Given the description of an element on the screen output the (x, y) to click on. 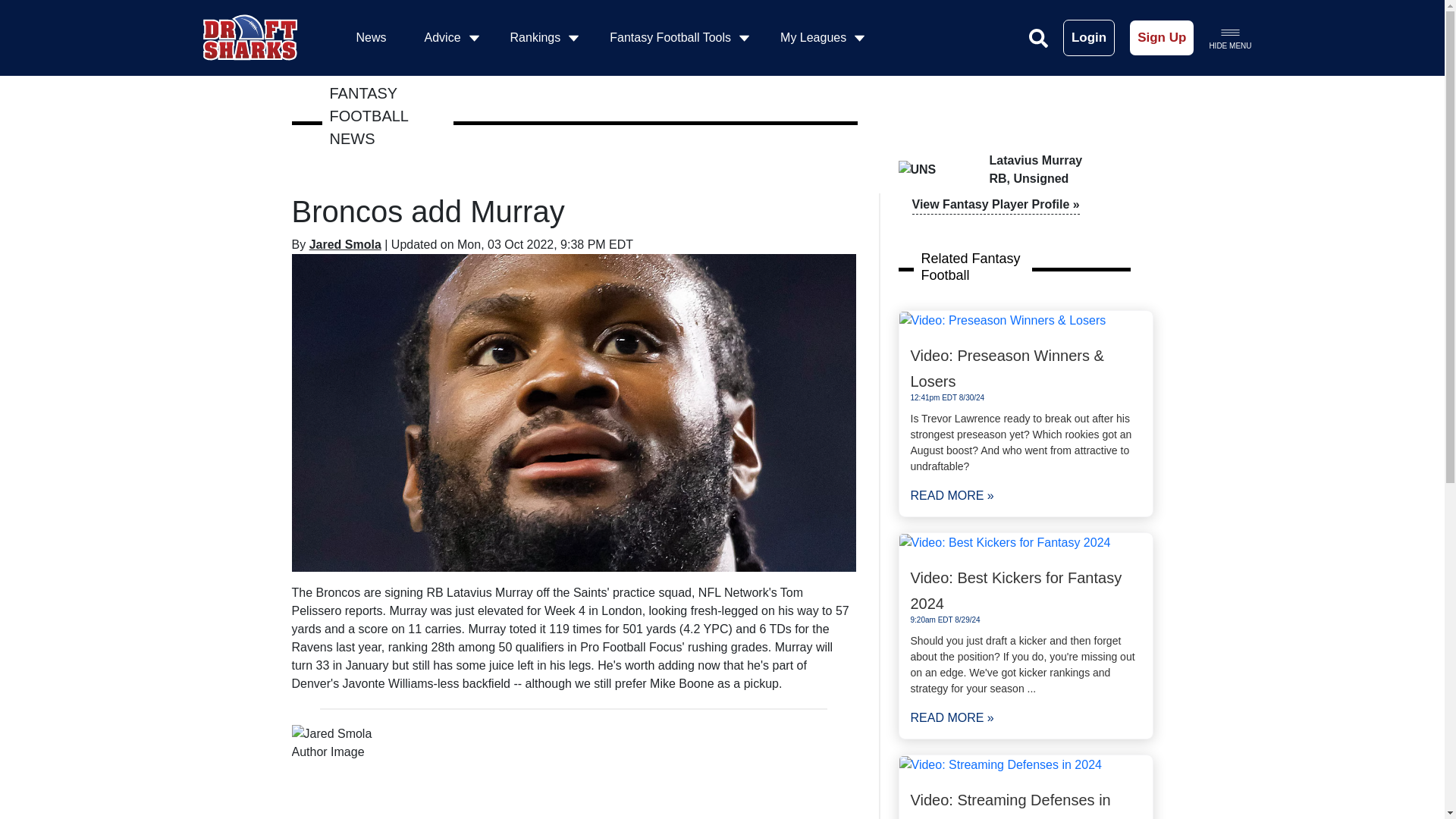
HIDE MENU (1229, 37)
Sign Up (1161, 37)
Login (1088, 37)
